Given the description of an element on the screen output the (x, y) to click on. 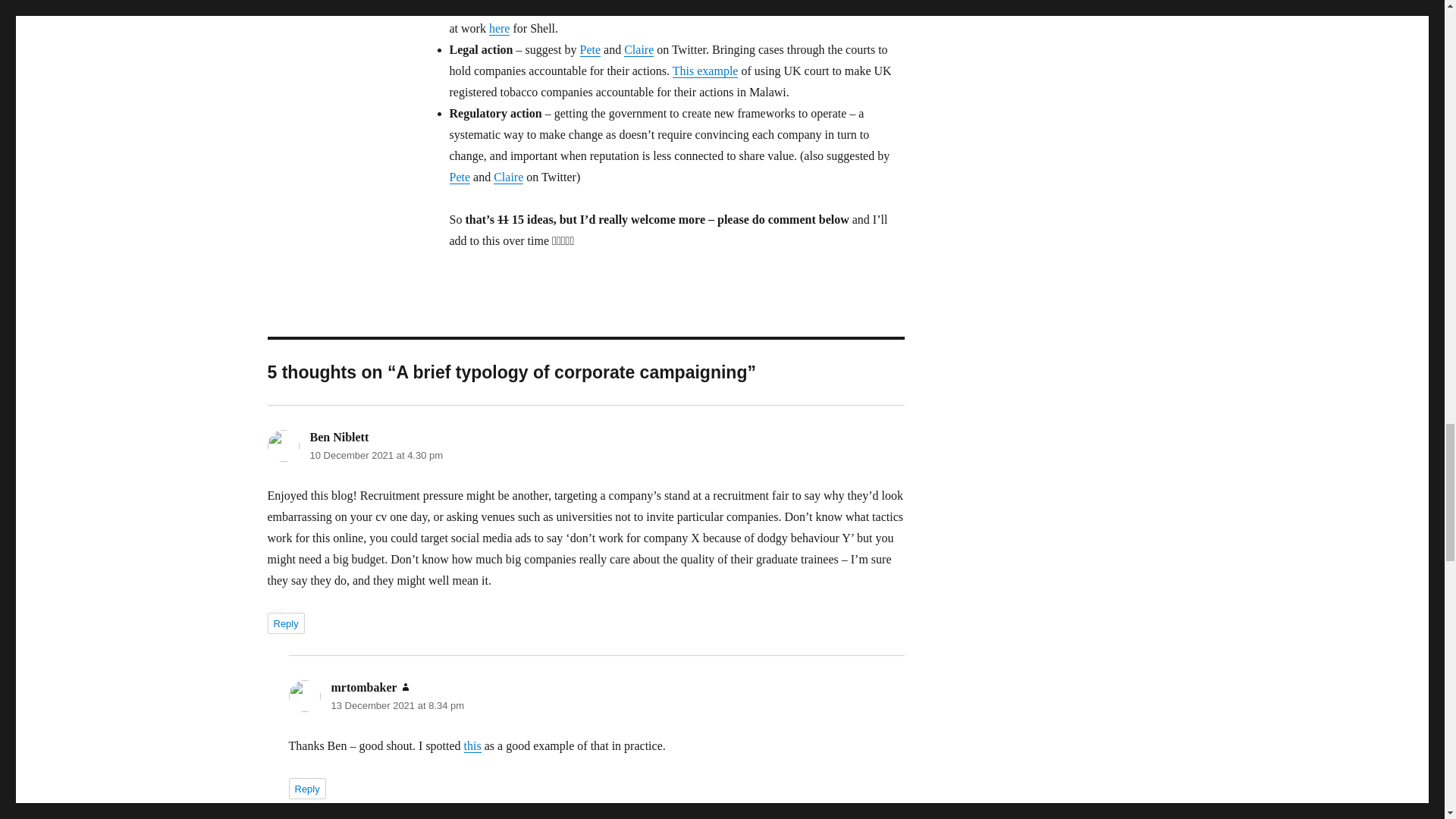
Claire (638, 49)
Pete (589, 49)
This example (705, 70)
Reply (285, 622)
Claire (507, 176)
Pete (459, 176)
10 December 2021 at 4.30 pm (375, 455)
here (500, 28)
